Given the description of an element on the screen output the (x, y) to click on. 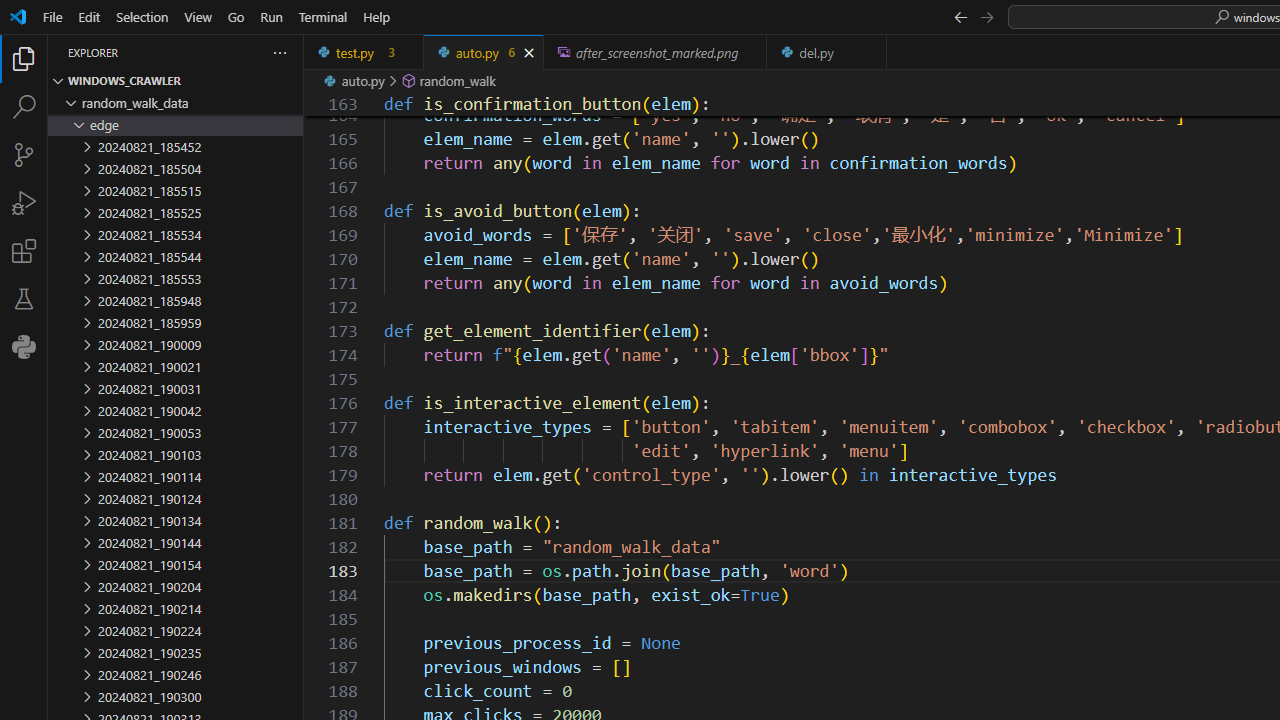
auto.py (483, 52)
after_screenshot_marked.png, preview (656, 52)
Close (Ctrl+F4) (872, 52)
Selection (141, 16)
Explorer Section: windows_crawler (175, 80)
Explorer actions (208, 52)
Edit (89, 16)
Python (24, 346)
Explorer (Ctrl+Shift+E) (24, 58)
Run (271, 16)
Testing (24, 299)
Terminal (322, 16)
